Given the description of an element on the screen output the (x, y) to click on. 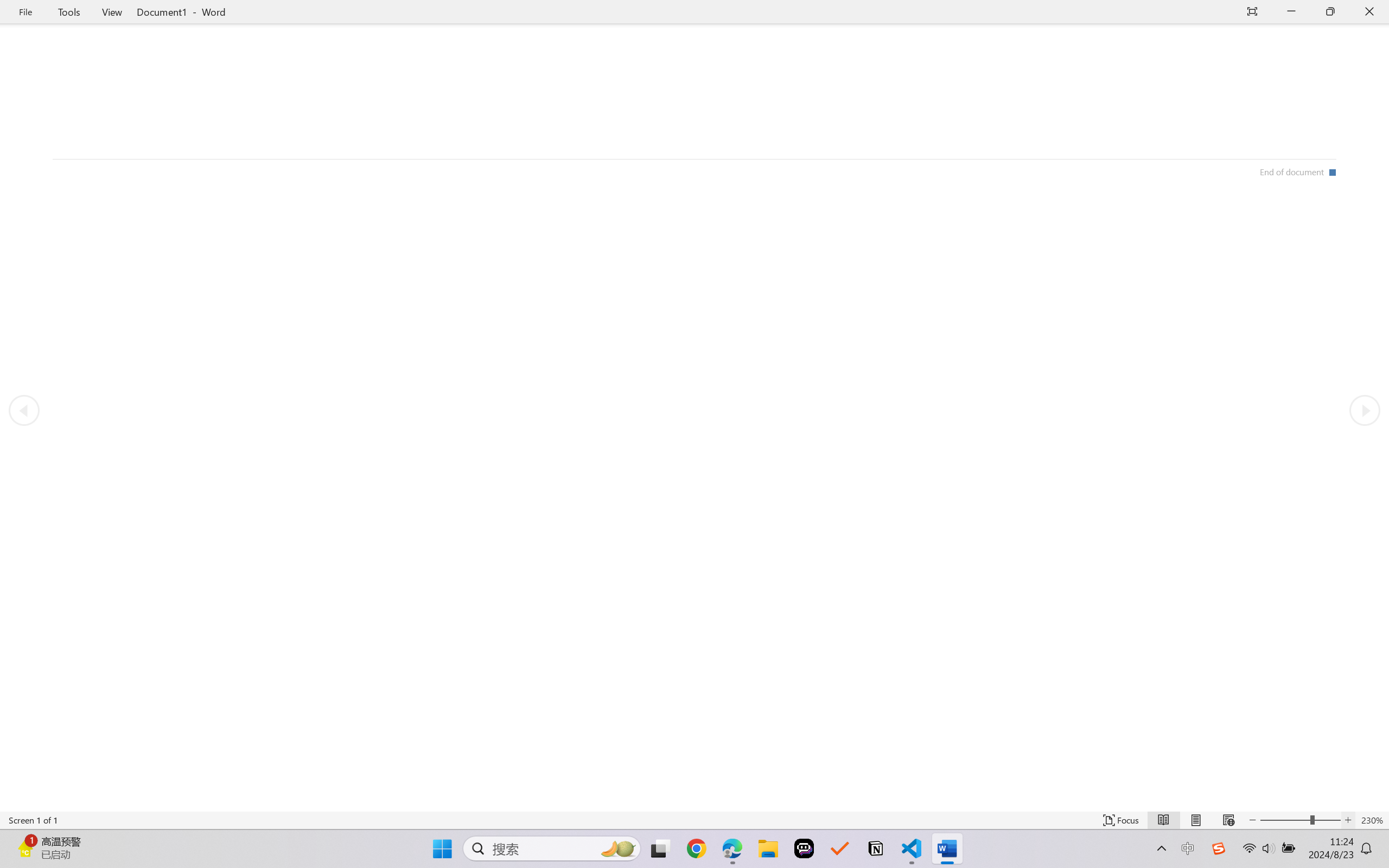
Decrease Text Size (1252, 819)
Increase Text Size (1348, 819)
Tools (69, 11)
Page Number Screen 1 of 1  (32, 819)
